Given the description of an element on the screen output the (x, y) to click on. 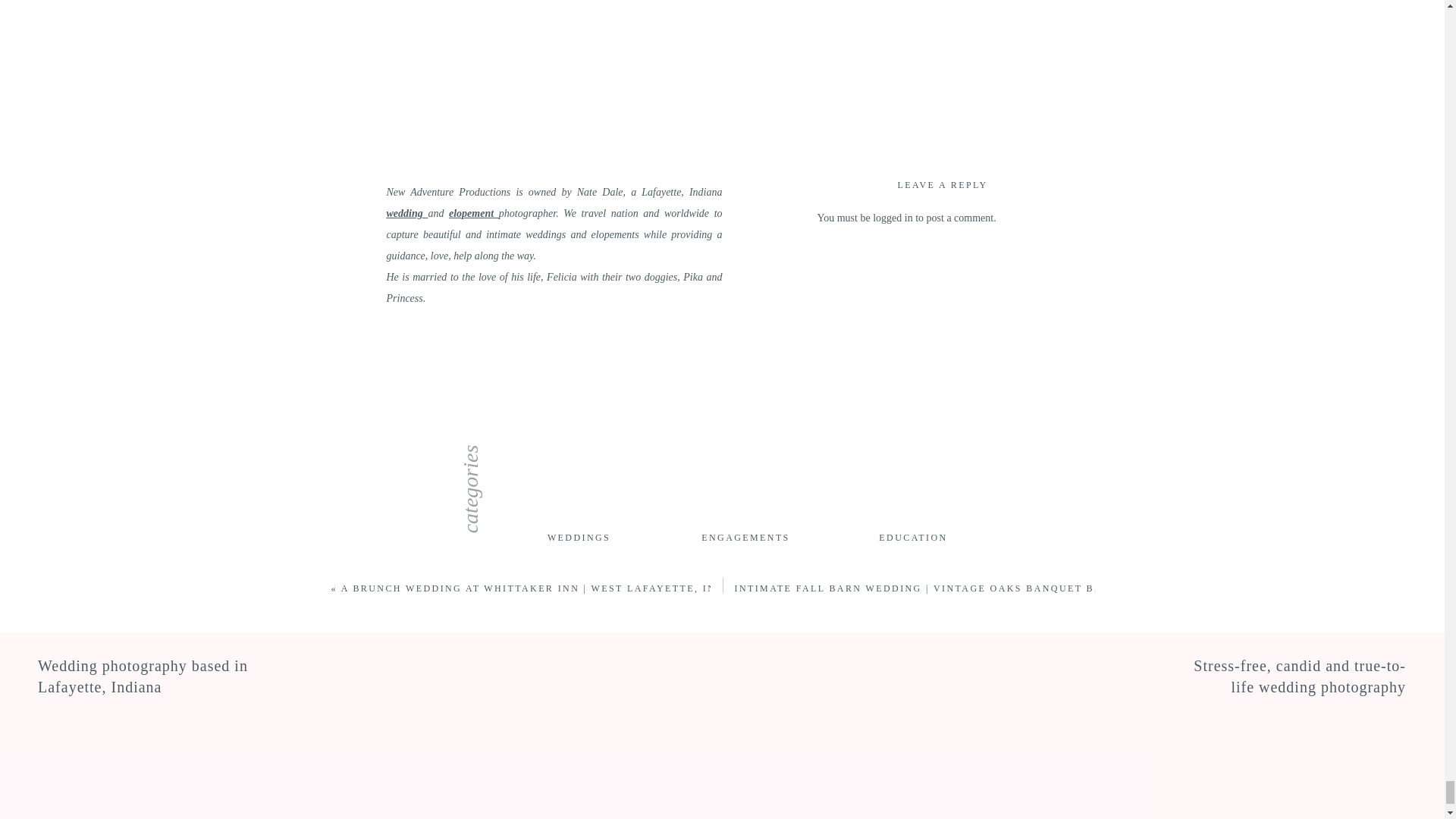
logged in (892, 217)
elopement (473, 213)
wedding (407, 213)
